Given the description of an element on the screen output the (x, y) to click on. 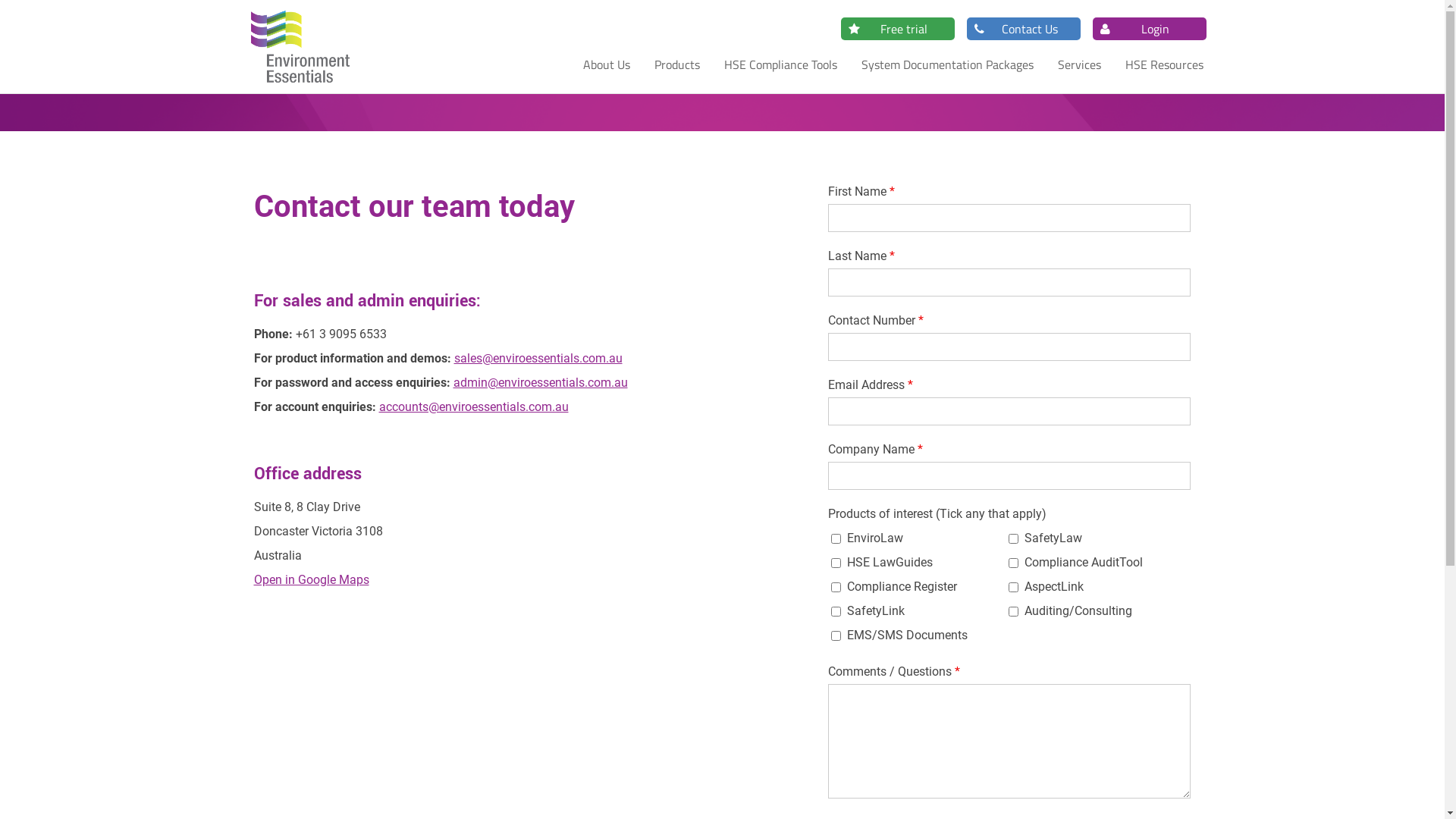
Free trial Element type: text (890, 27)
Open in Google Maps Element type: text (310, 579)
accounts@enviroessentials.com.au Element type: text (473, 406)
admin@enviroessentials.com.au Element type: text (540, 382)
Contact Us Element type: text (1016, 27)
Login Element type: text (1142, 27)
HSE Resources Element type: text (1164, 63)
sales@enviroessentials.com.au Element type: text (537, 358)
